Given the description of an element on the screen output the (x, y) to click on. 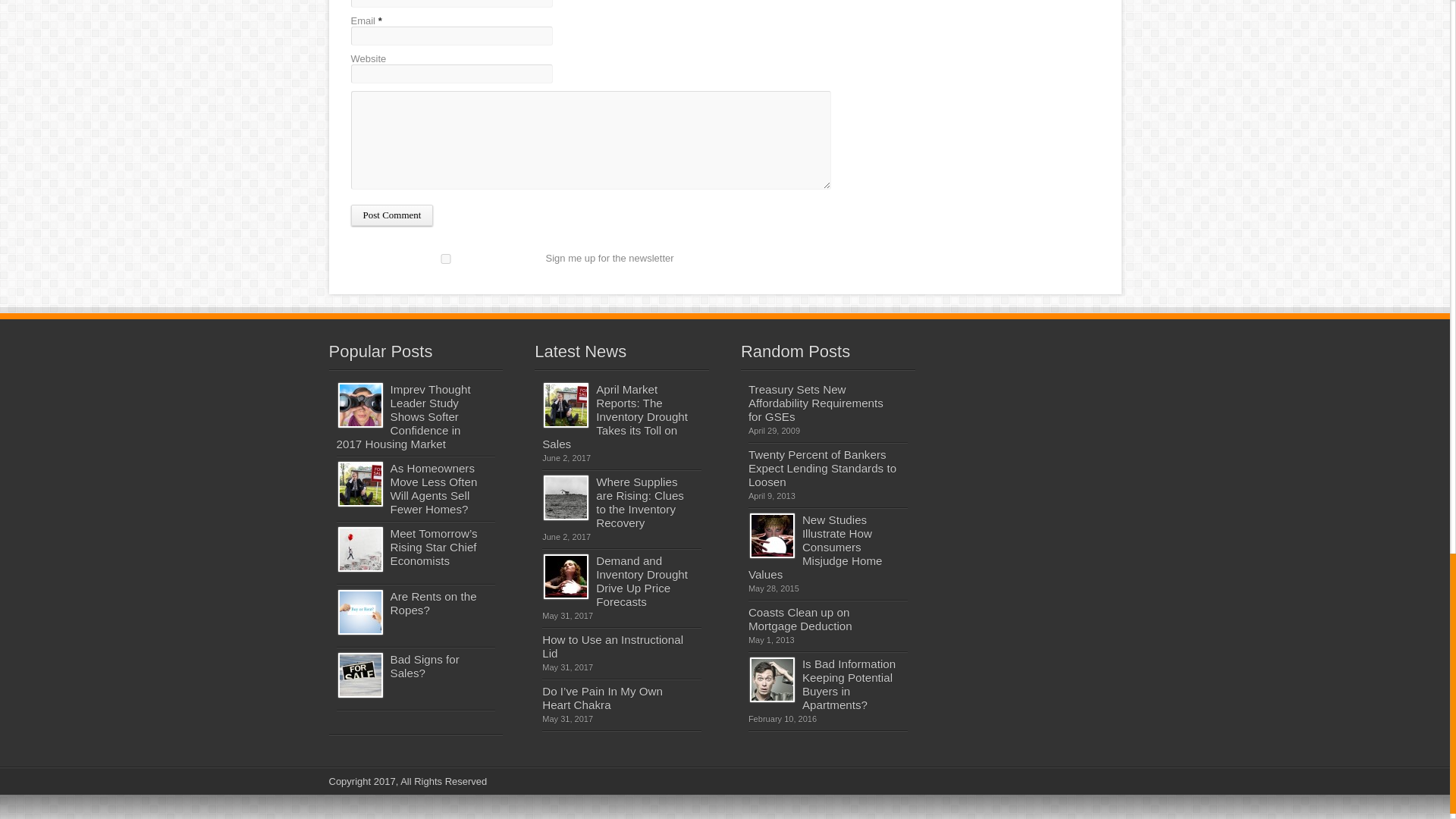
1 (445, 258)
Post Comment (391, 215)
